Given the description of an element on the screen output the (x, y) to click on. 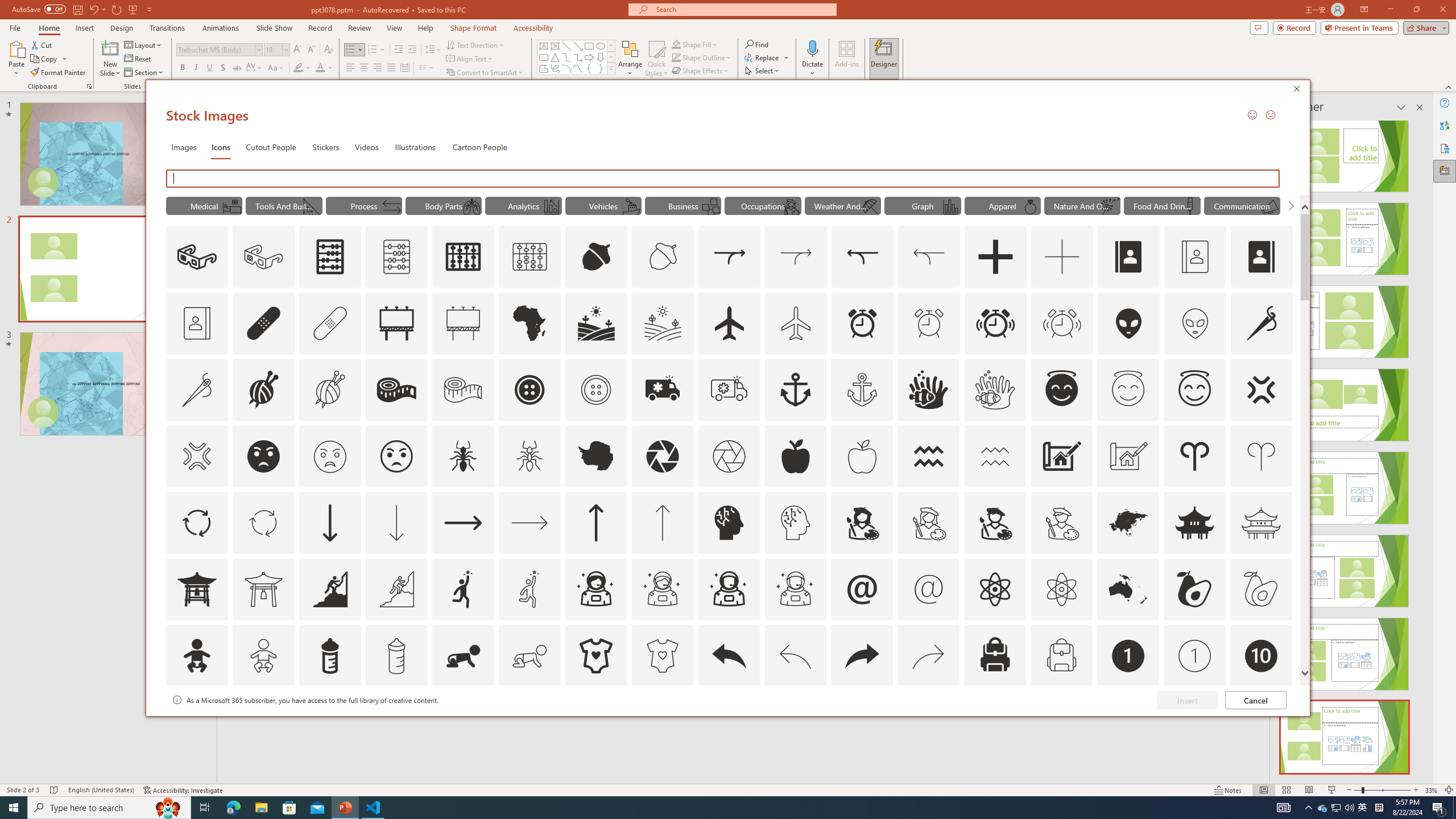
AutomationID: Icons_TriangleRuler_M (311, 206)
AutomationID: Icons_Aspiration1 (462, 588)
AutomationID: Icons_Badge9 (1194, 721)
AutomationID: Icons_AdhesiveBandage_M (330, 323)
Cartoon People (479, 146)
AutomationID: Icons_Acorn (596, 256)
AutomationID: Icons_Airplane_M (796, 323)
